Given the description of an element on the screen output the (x, y) to click on. 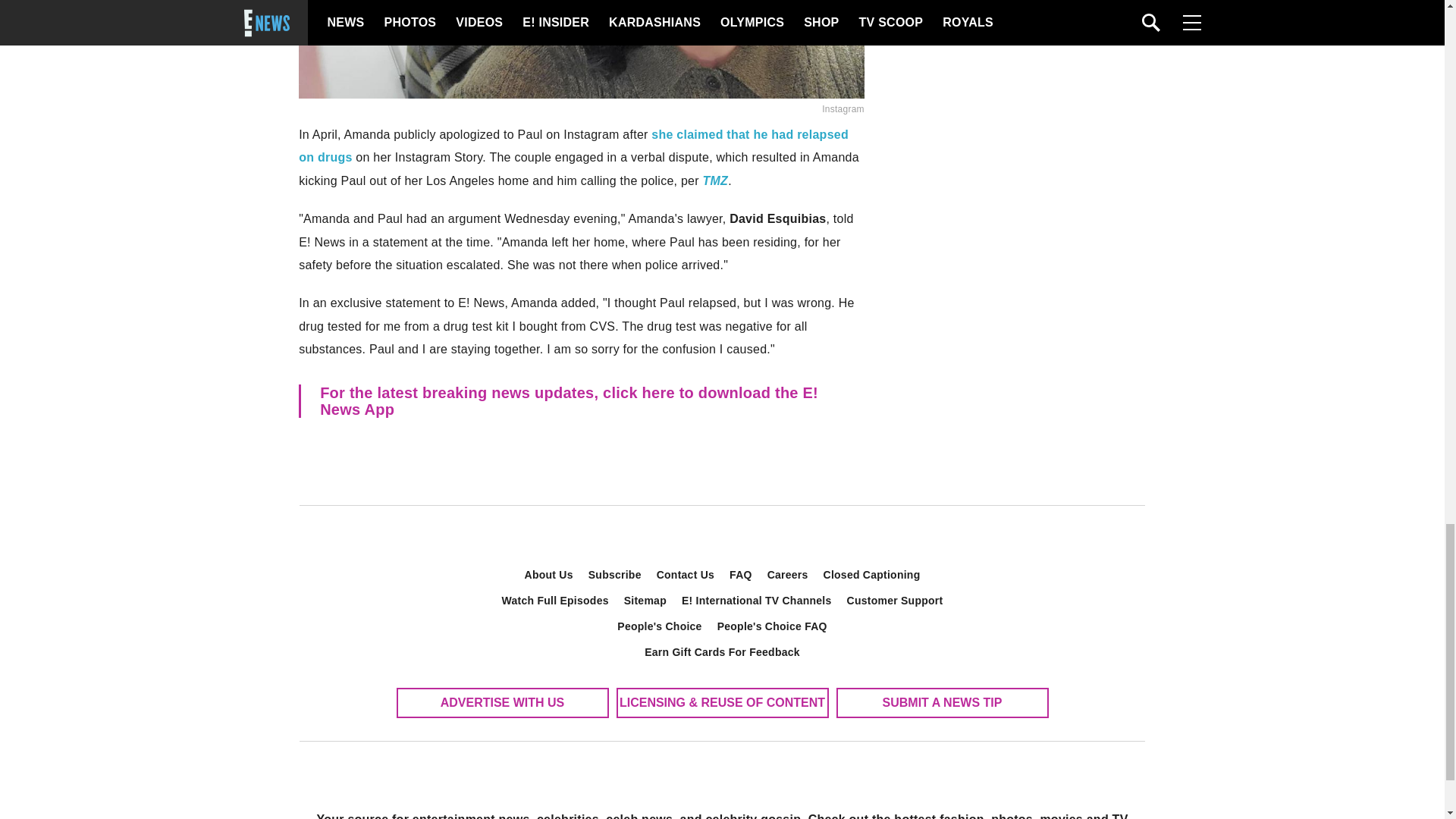
TMZ (714, 180)
she claimed that he had relapsed on drugs (573, 145)
